Given the description of an element on the screen output the (x, y) to click on. 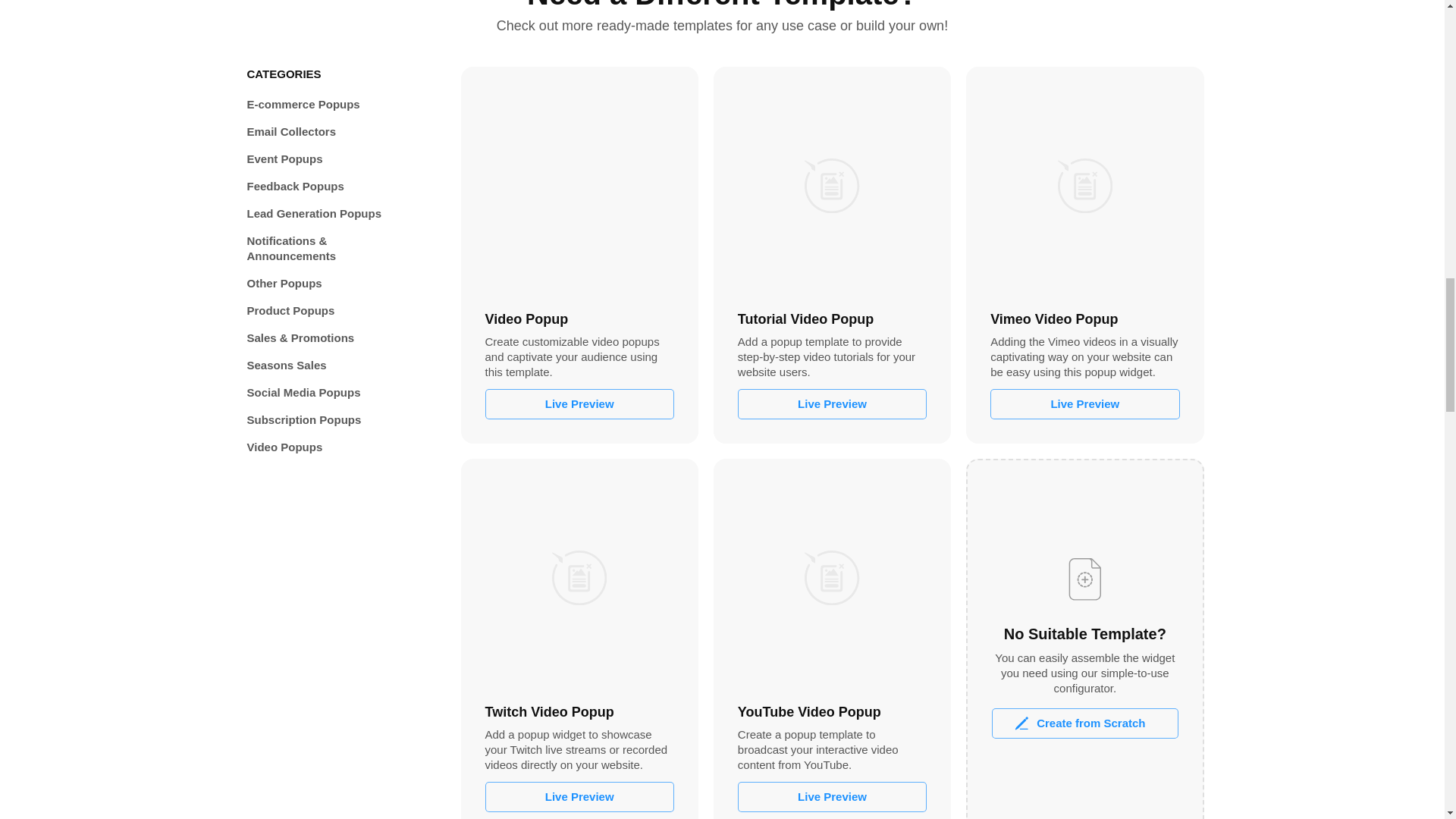
YouTube Video Popup (832, 577)
Video Popup (579, 185)
Vimeo Video Popup (1084, 185)
Tutorial Video Popup (832, 185)
Twitch Video Popup (579, 577)
